Given the description of an element on the screen output the (x, y) to click on. 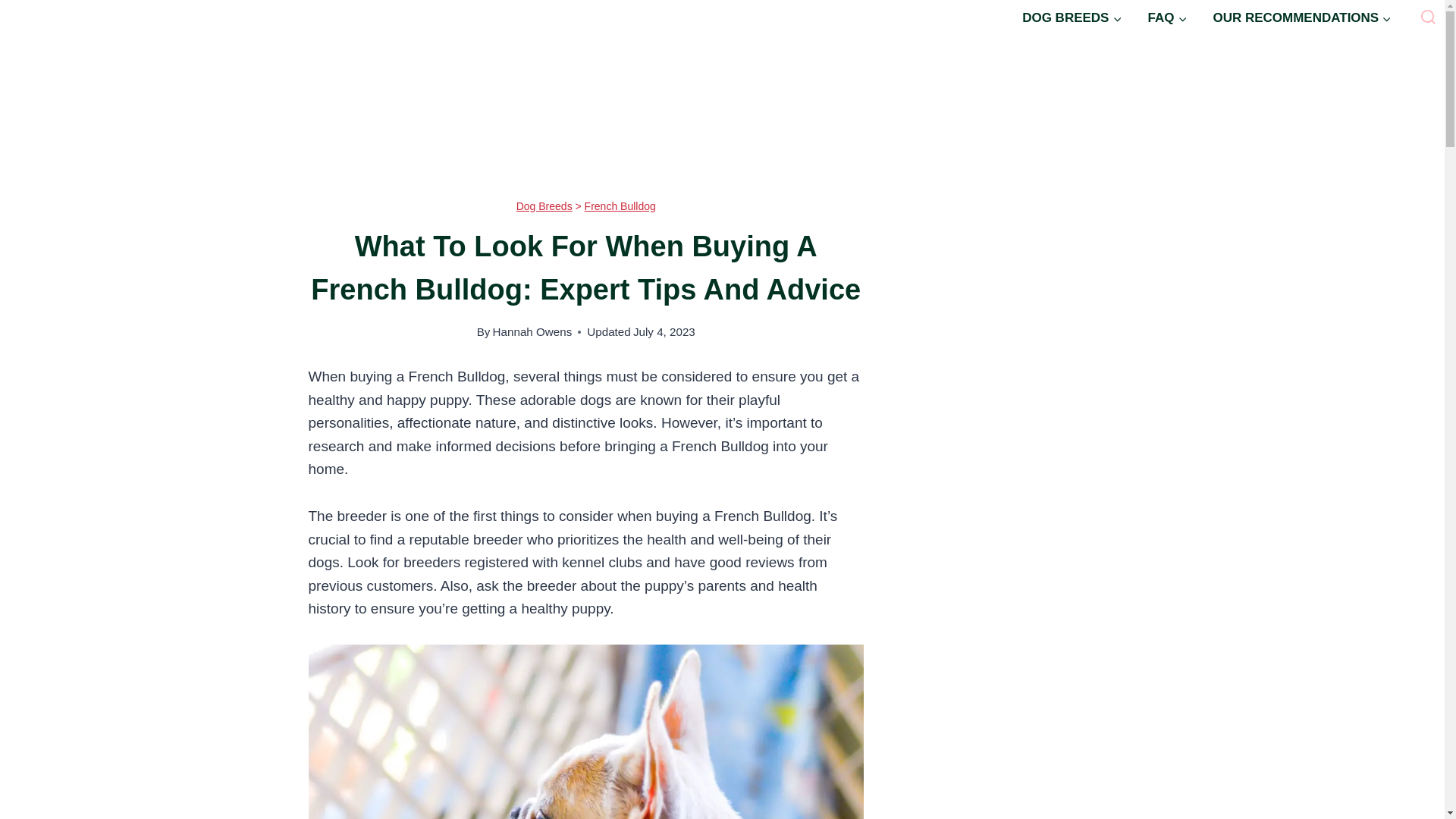
OUR RECOMMENDATIONS (1302, 18)
FAQ (1166, 18)
DOG BREEDS (1071, 18)
